Given the description of an element on the screen output the (x, y) to click on. 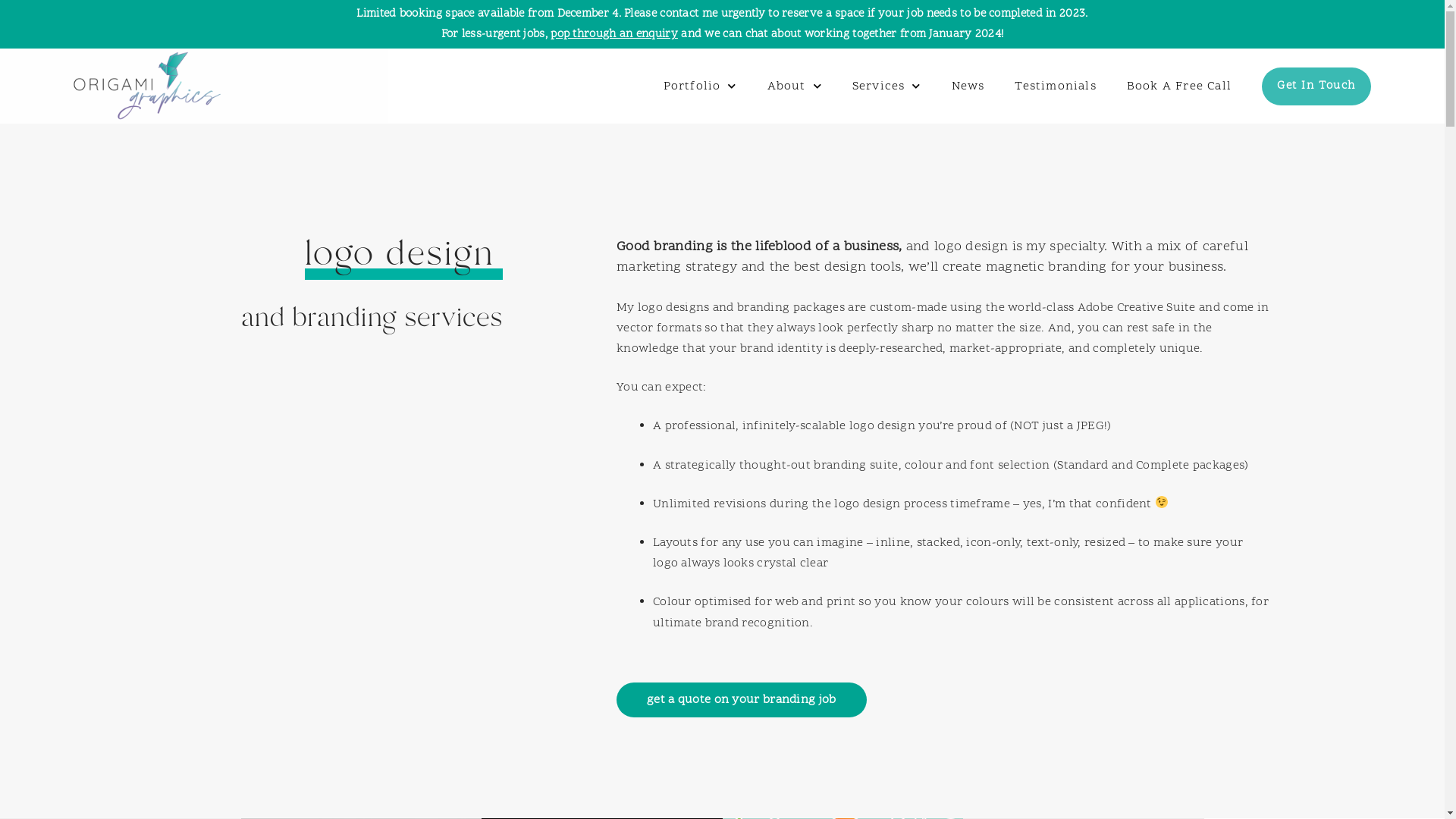
Portfolio Element type: text (699, 86)
Testimonials Element type: text (1054, 86)
Book A Free Call Element type: text (1178, 86)
Services Element type: text (886, 86)
News Element type: text (968, 86)
pop through an enquiry Element type: text (613, 34)
get a quote on your branding job Element type: text (741, 699)
About Element type: text (794, 86)
Get In Touch Element type: text (1315, 86)
